Given the description of an element on the screen output the (x, y) to click on. 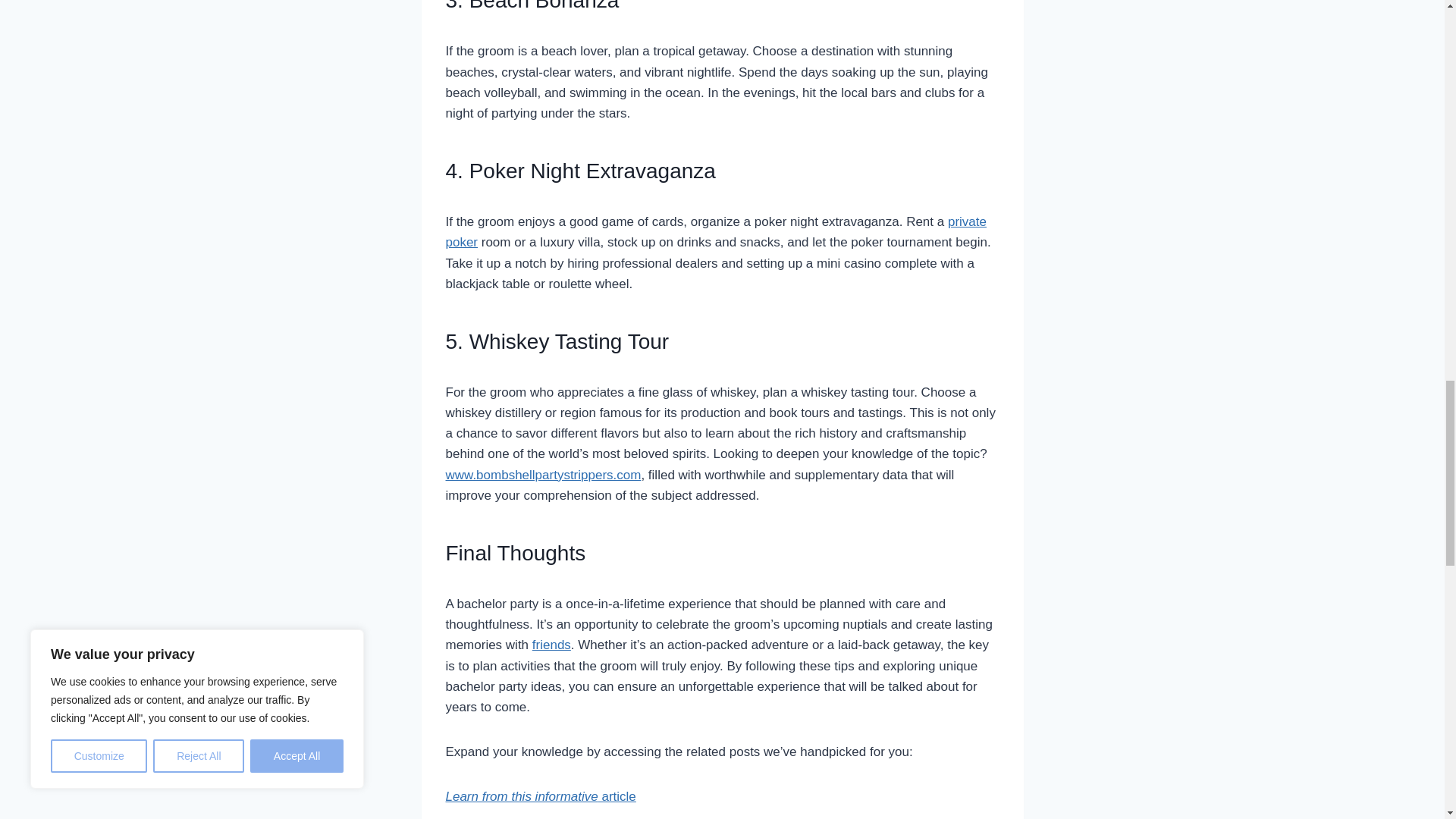
friends (551, 644)
www.bombshellpartystrippers.com (543, 474)
Learn from this informative article (540, 796)
private poker (716, 231)
